Given the description of an element on the screen output the (x, y) to click on. 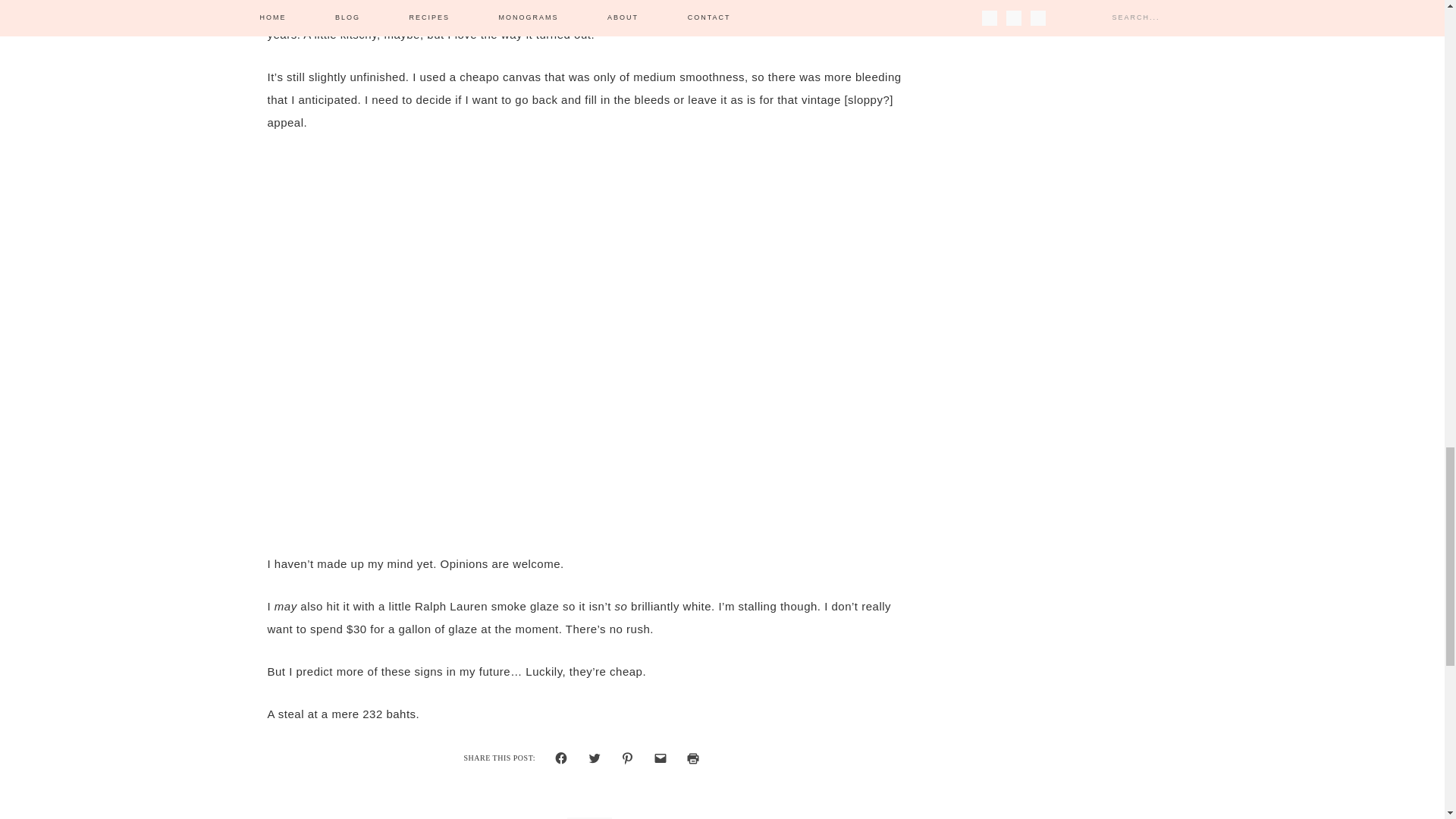
Click to email a link to a friend (660, 758)
Click to share on Pinterest (627, 758)
Click to share on Facebook (561, 758)
Click to share on Twitter (594, 758)
Click to print (692, 758)
